Given the description of an element on the screen output the (x, y) to click on. 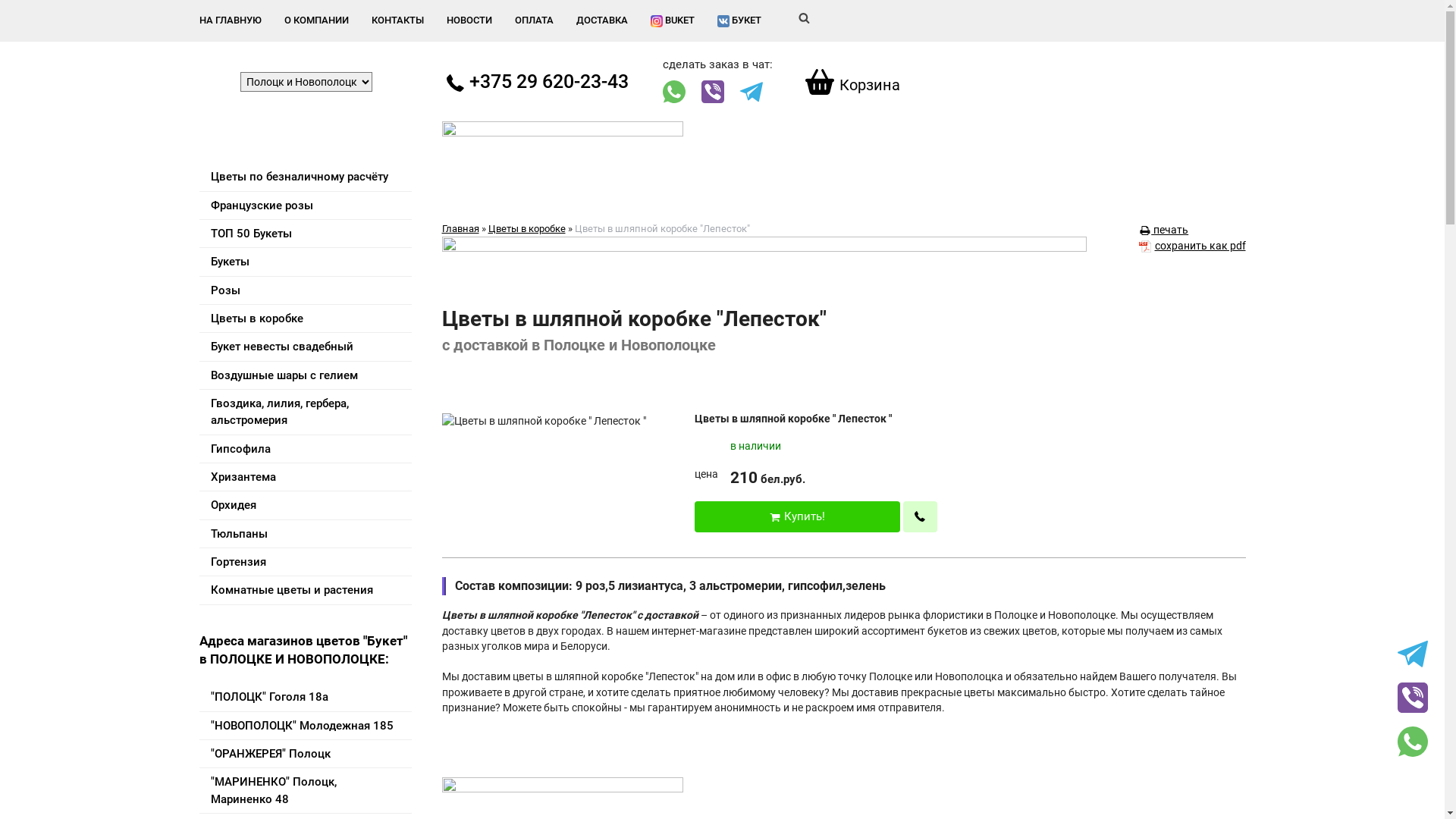
BUKET Element type: text (672, 20)
+375 29 620-23-43 Element type: text (536, 81)
